Given the description of an element on the screen output the (x, y) to click on. 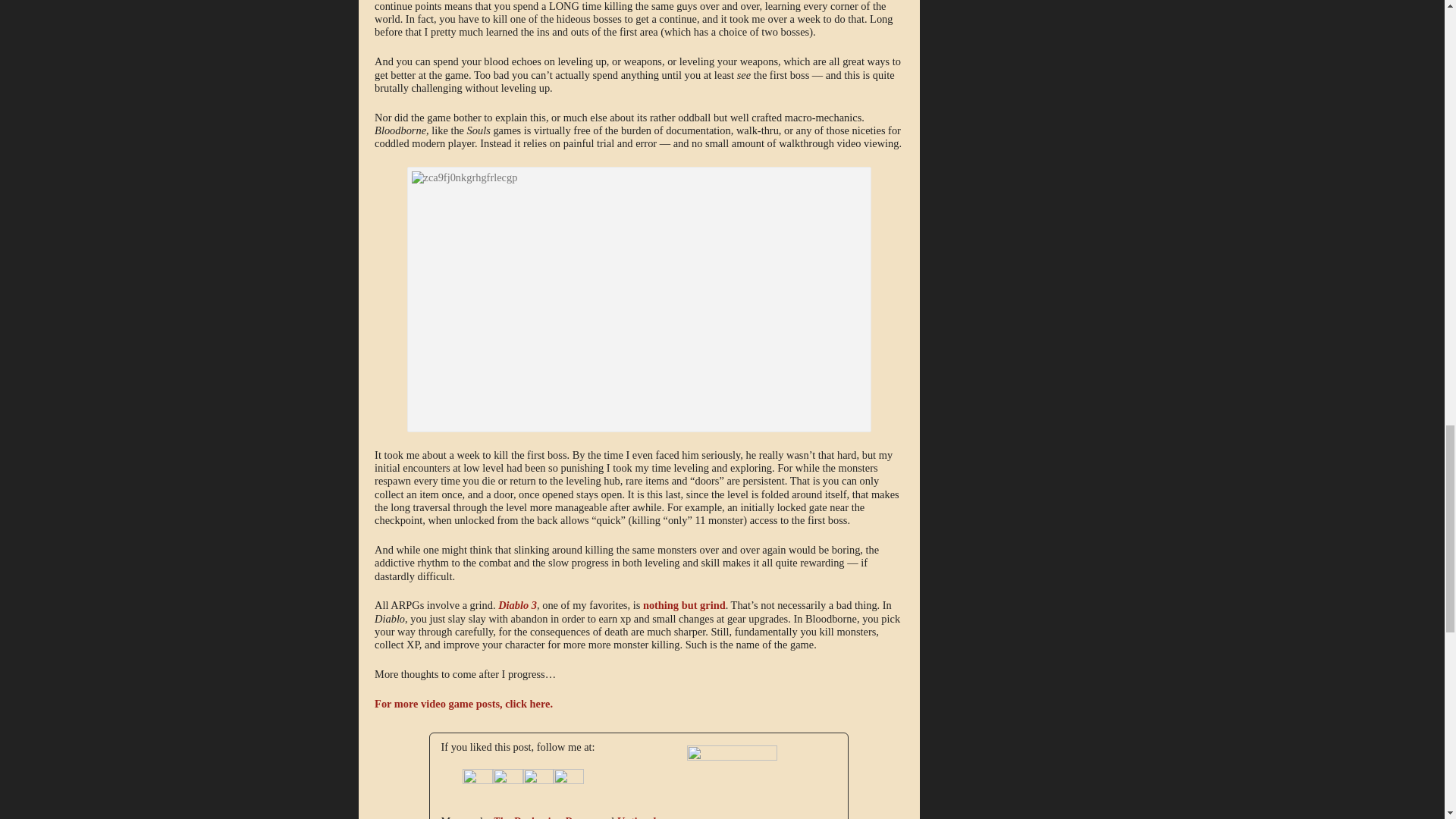
RSS via Feedburner (568, 779)
subscribe by email (537, 784)
Untimed (548, 816)
The Darkening Dream (544, 816)
Untimed (716, 756)
